Given the description of an element on the screen output the (x, y) to click on. 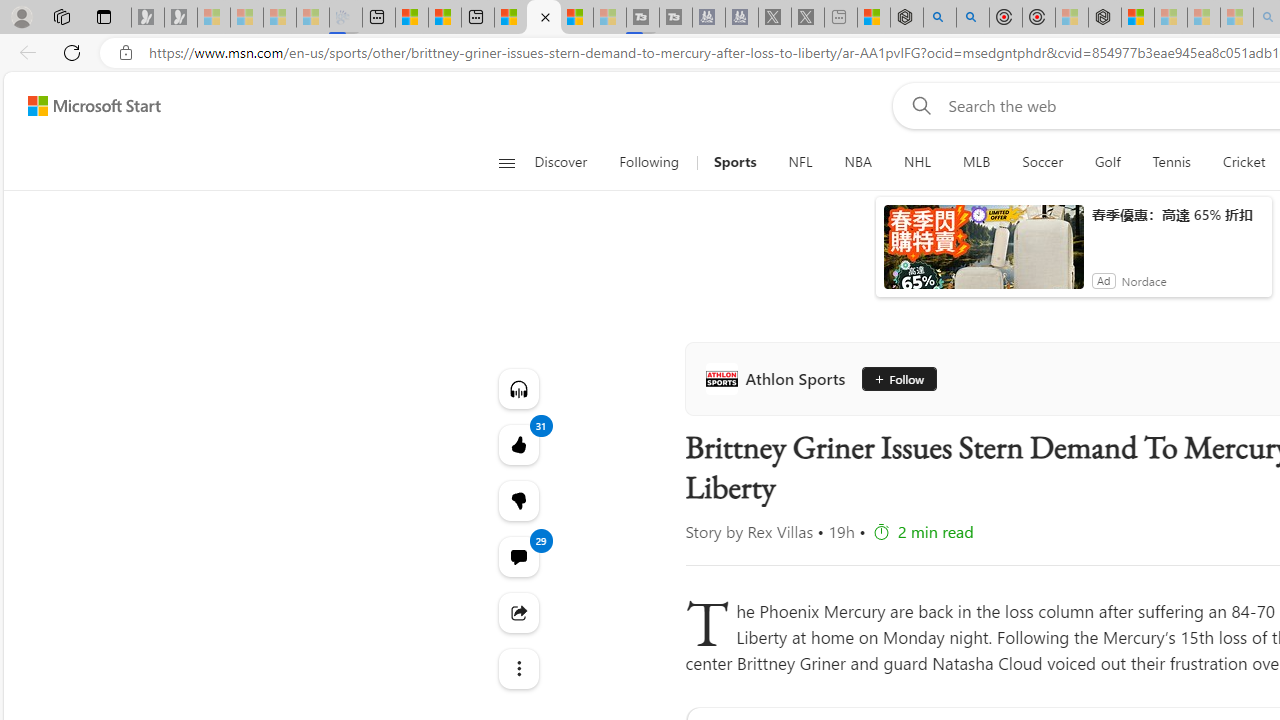
Close tab (545, 16)
Sports (735, 162)
Nordace - Nordace Siena Is Not An Ordinary Backpack (1105, 17)
Golf (1107, 162)
poe ++ standard - Search (973, 17)
Following (648, 162)
New tab (478, 17)
NFL (800, 162)
Soccer (1042, 162)
Nordace (1144, 280)
